Given the description of an element on the screen output the (x, y) to click on. 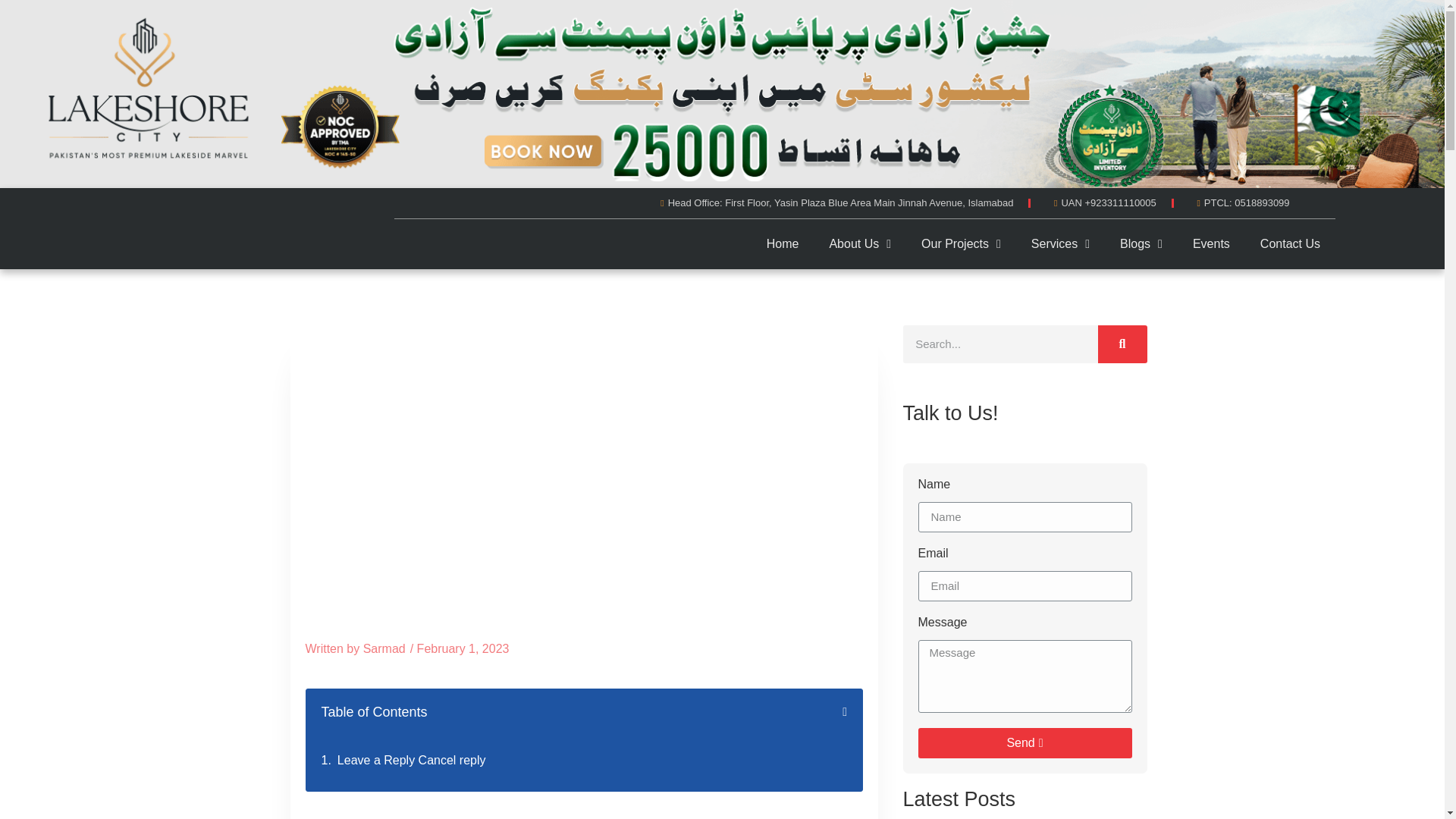
About Us (859, 275)
Search (1122, 344)
PTCL: 0518893099 (1239, 244)
Search (999, 344)
Home (783, 280)
Our Projects (961, 259)
